Given the description of an element on the screen output the (x, y) to click on. 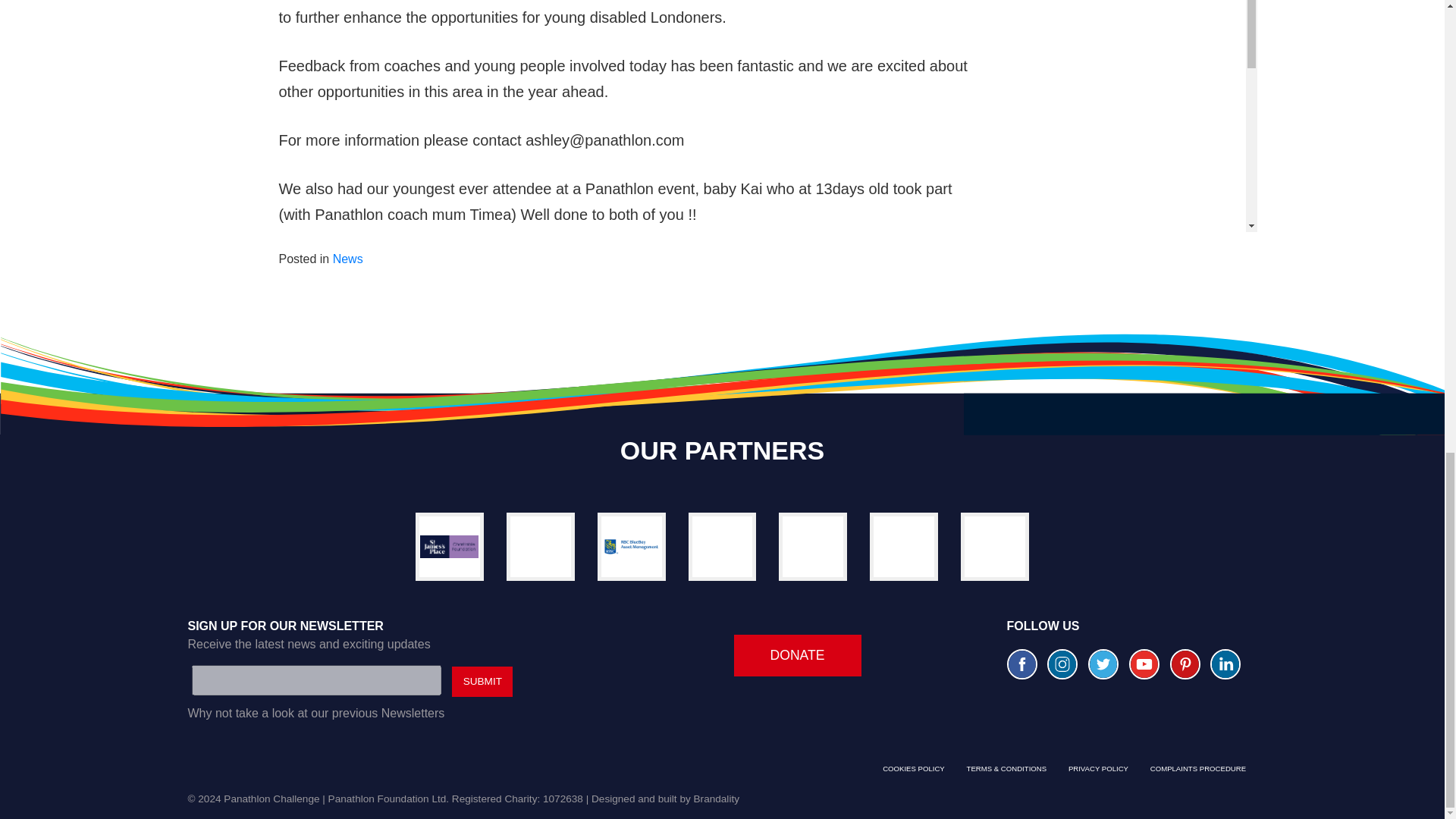
Submit (481, 681)
